Given the description of an element on the screen output the (x, y) to click on. 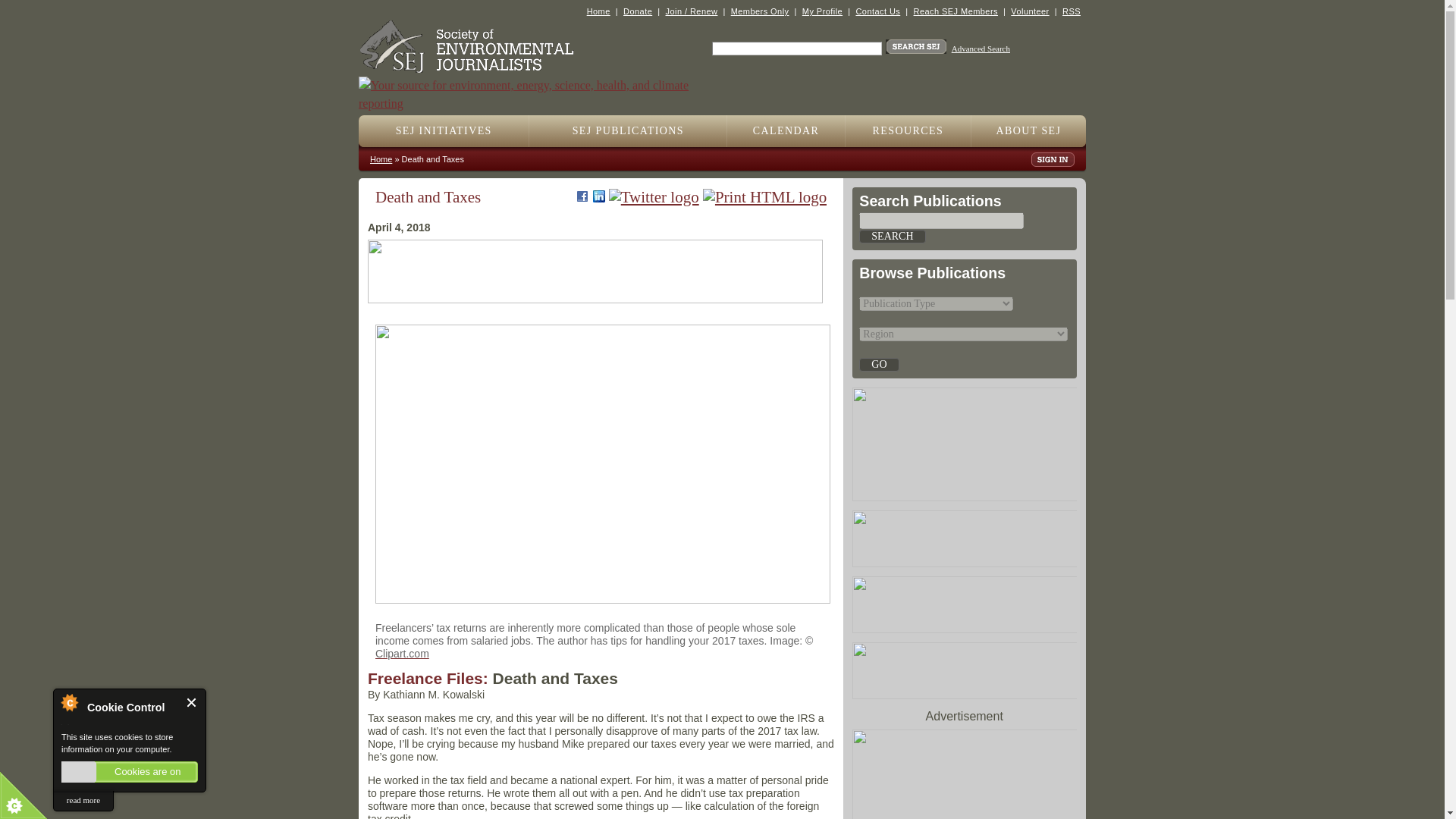
Contact Us (877, 10)
read more (82, 801)
Advanced Search (981, 48)
Search (891, 236)
RSS (1071, 10)
Donate (637, 10)
Volunteer (1029, 10)
Home (598, 10)
Home (540, 86)
My Profile (822, 10)
